Given the description of an element on the screen output the (x, y) to click on. 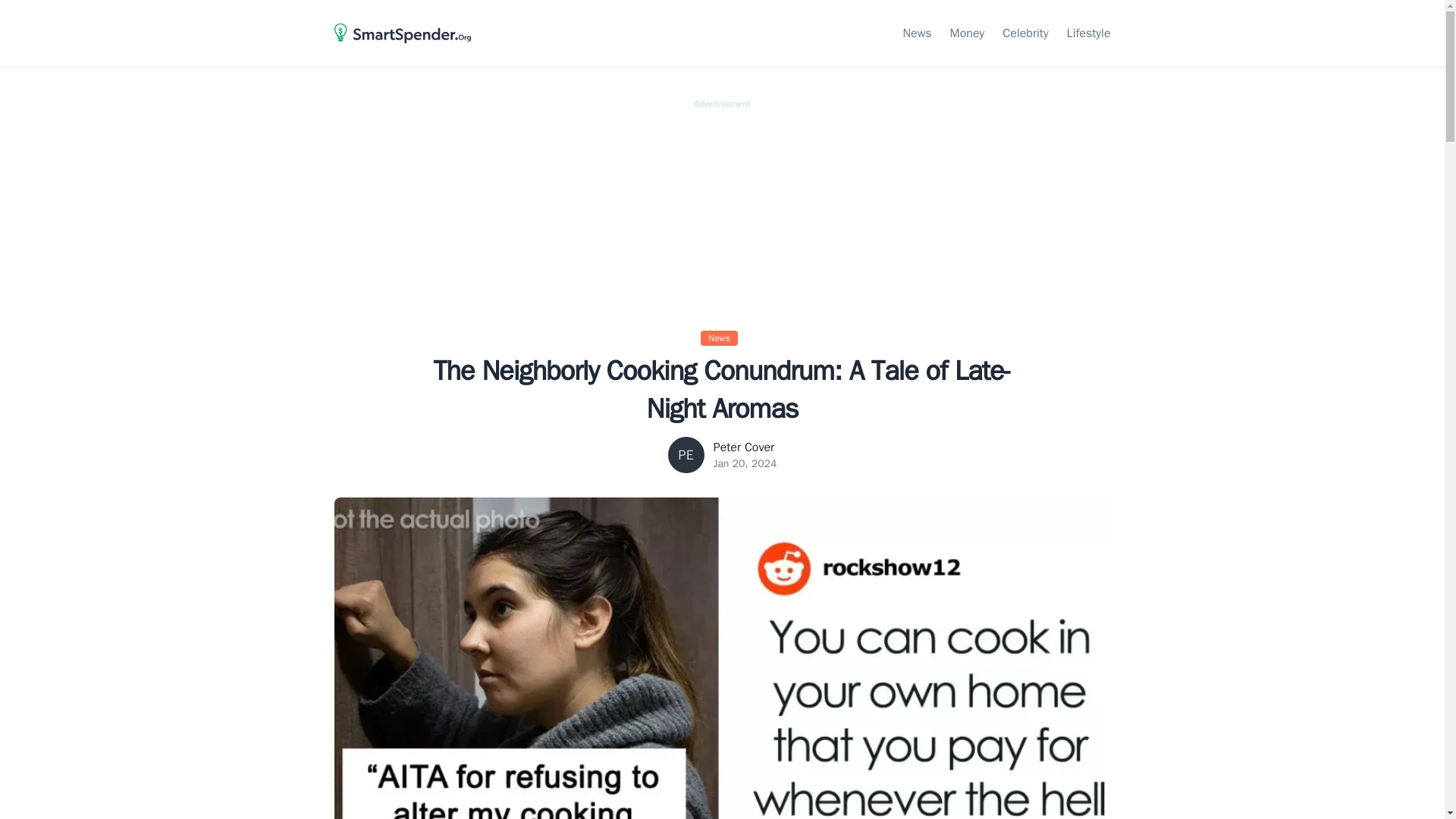
HomePage (401, 50)
Celebrity (1025, 33)
Link (967, 33)
Link (1025, 33)
Link (1088, 33)
Lifestyle (1088, 33)
Advertisement (721, 215)
Money (967, 33)
Link (916, 33)
News (722, 337)
